Given the description of an element on the screen output the (x, y) to click on. 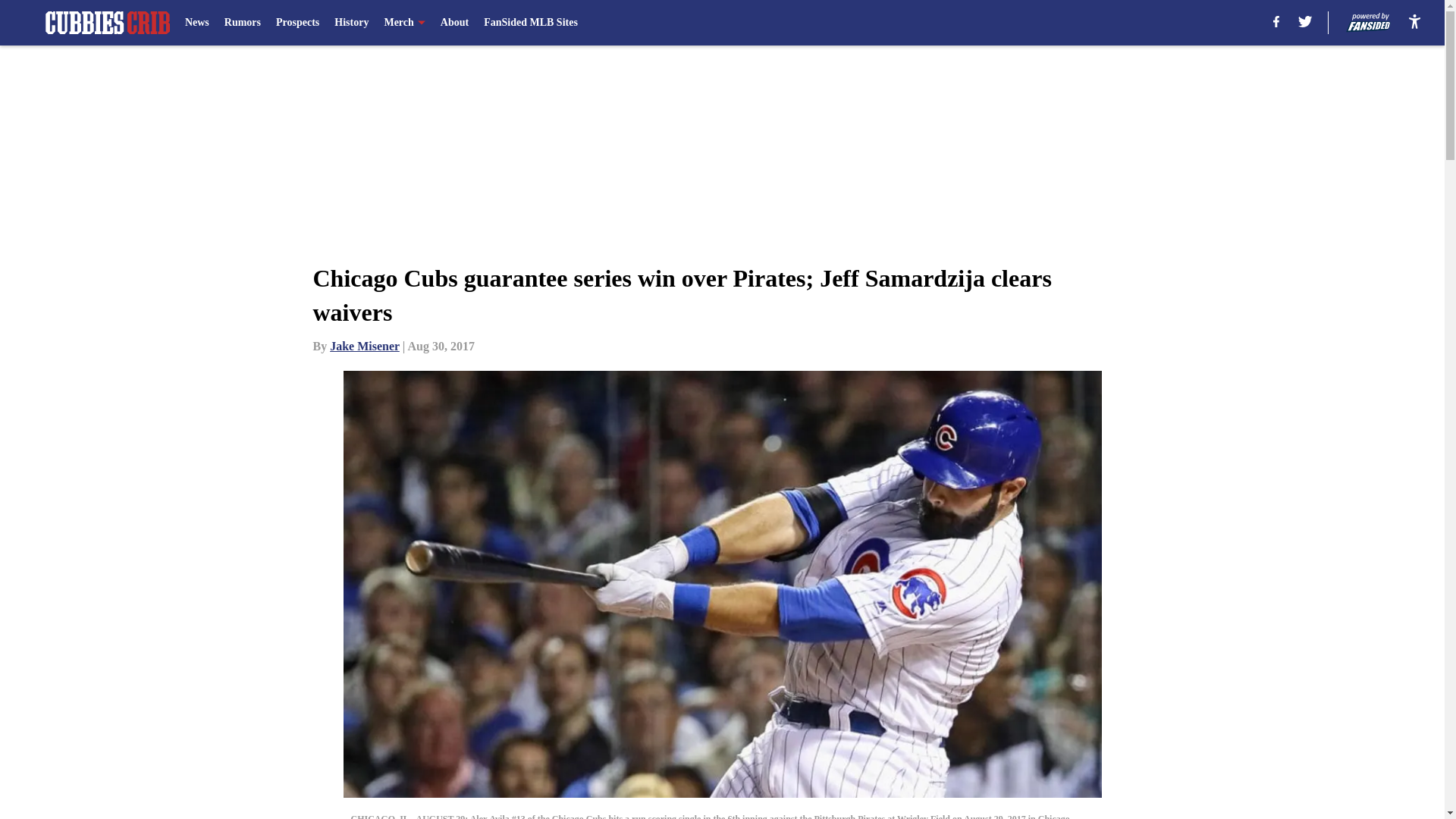
News (196, 22)
About (454, 22)
Rumors (242, 22)
History (351, 22)
Jake Misener (364, 345)
Prospects (297, 22)
FanSided MLB Sites (530, 22)
